Given the description of an element on the screen output the (x, y) to click on. 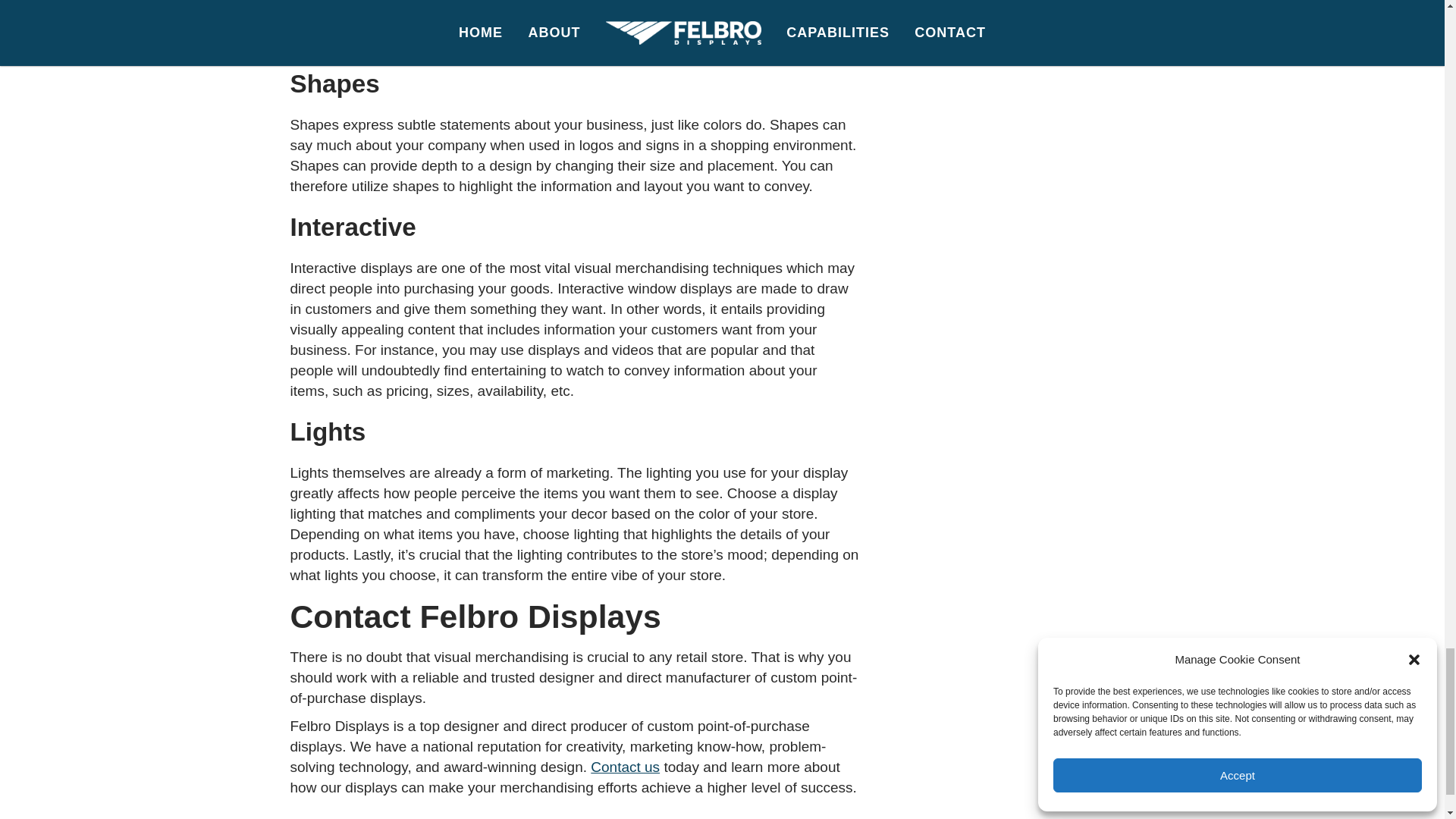
Contact us (625, 766)
